Given the description of an element on the screen output the (x, y) to click on. 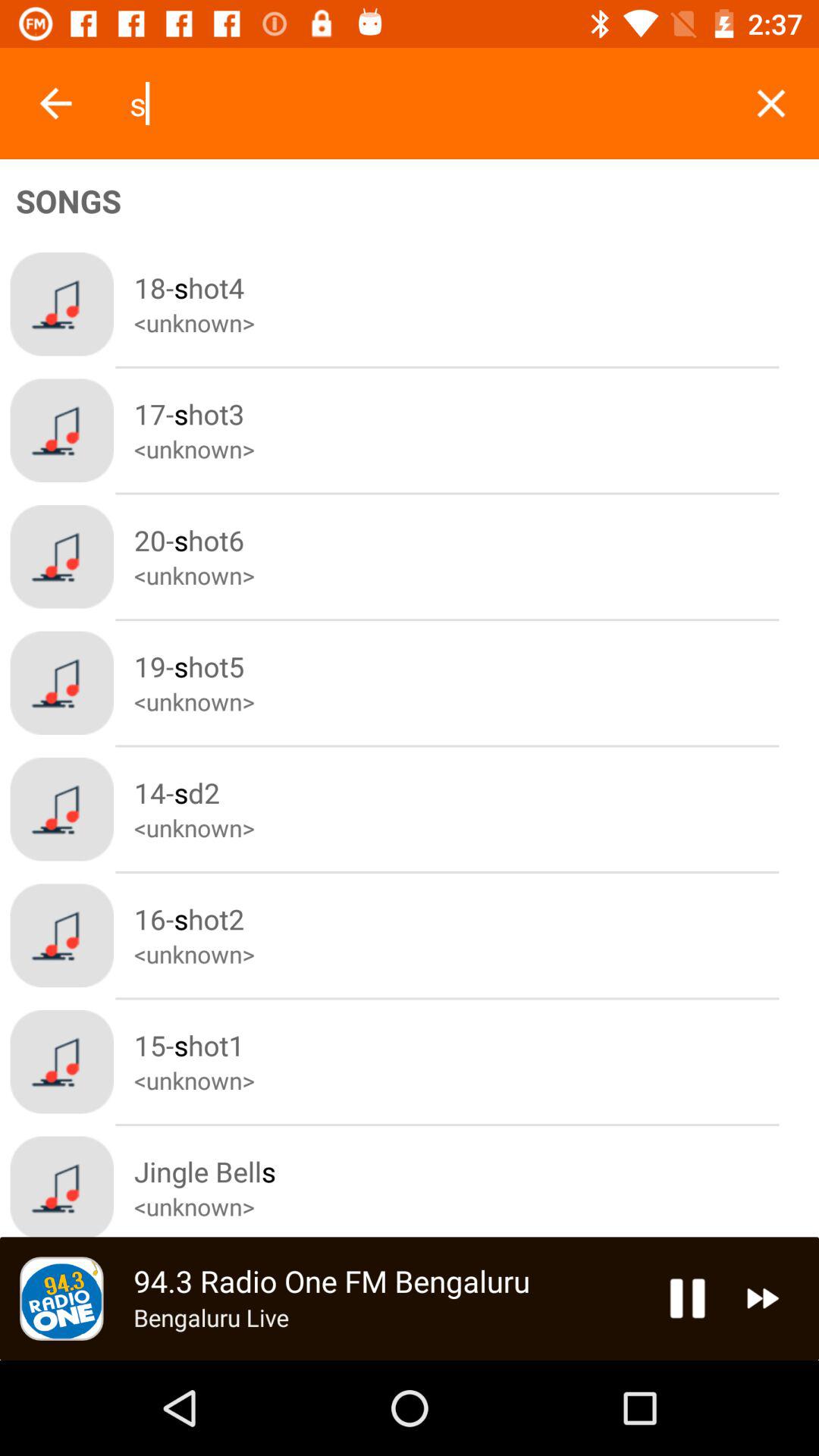
pause (687, 1298)
